Given the description of an element on the screen output the (x, y) to click on. 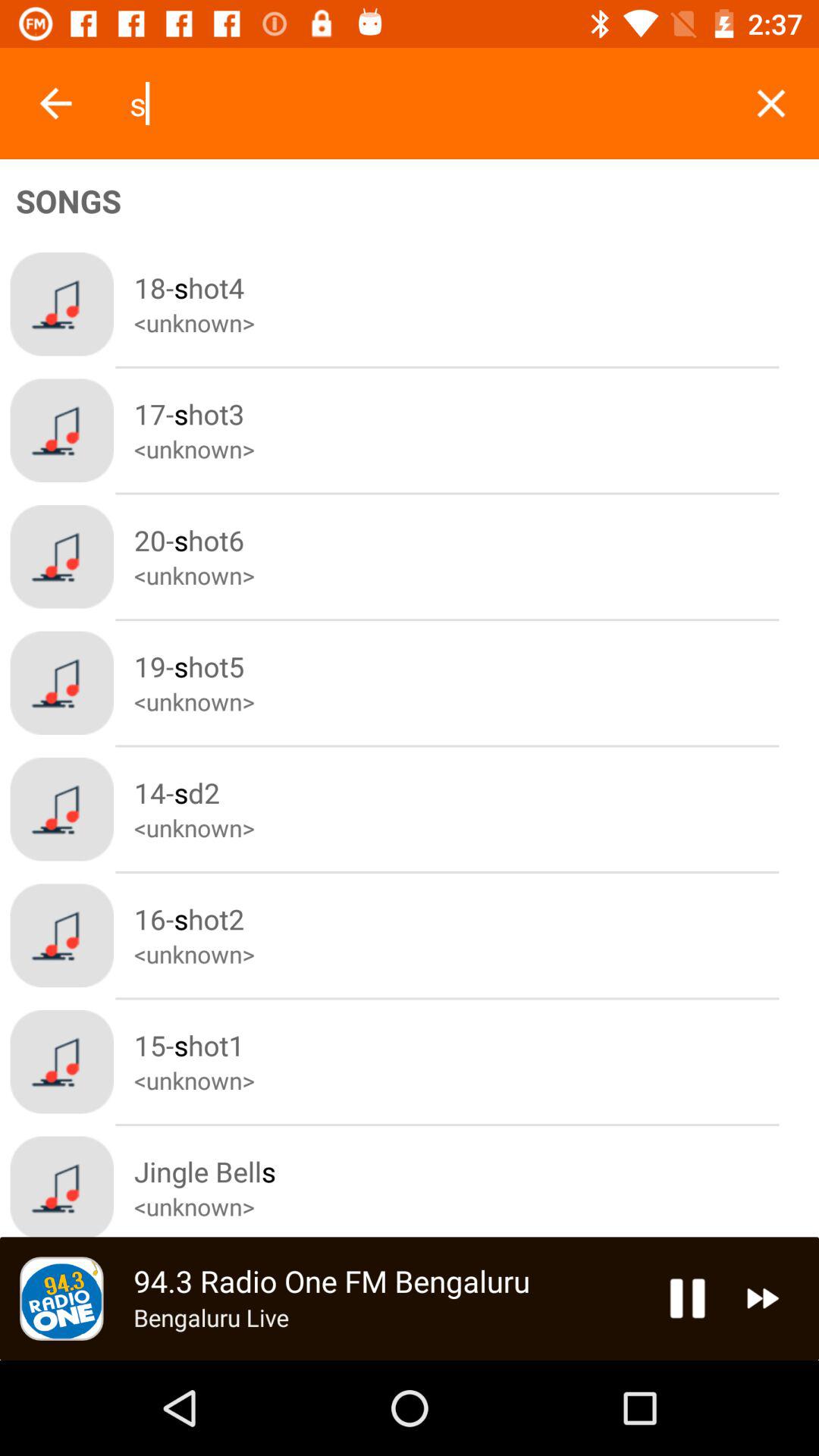
pause (687, 1298)
